Given the description of an element on the screen output the (x, y) to click on. 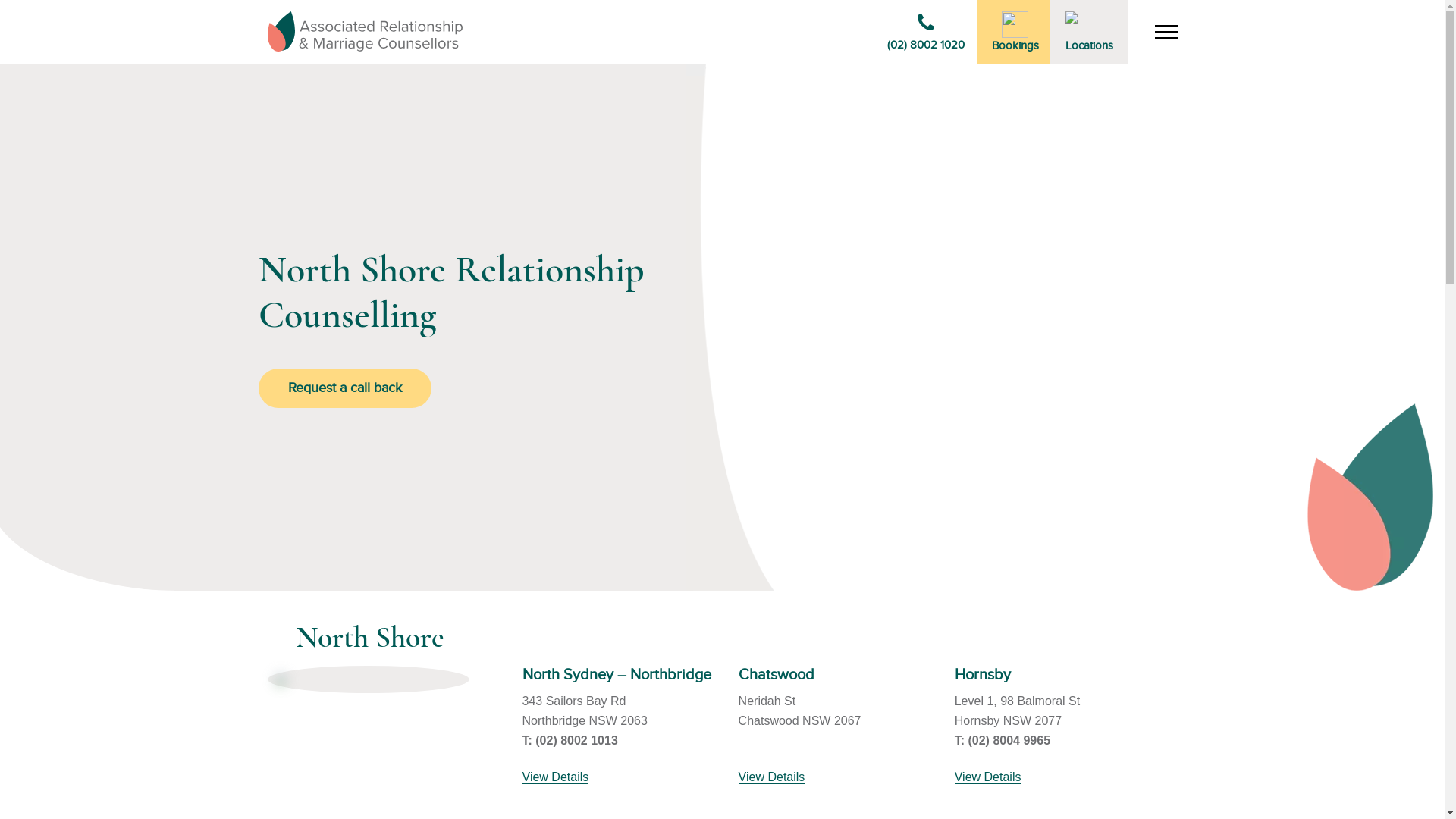
Locations Element type: text (1088, 31)
T: (02) 8004 9965 Element type: text (1002, 740)
Chatswood Element type: text (776, 674)
Couple Counselling Element type: text (363, 31)
View Details Element type: text (554, 777)
View Details Element type: text (987, 777)
View Details Element type: text (771, 777)
location-round-img3 Element type: hover (280, 679)
Bookings Element type: text (1015, 31)
Request a call back Element type: text (344, 387)
Hornsby Element type: text (982, 674)
North Shore Element type: text (369, 637)
(02) 8002 1020 Element type: text (925, 31)
T: (02) 8002 1013 Element type: text (569, 740)
